Given the description of an element on the screen output the (x, y) to click on. 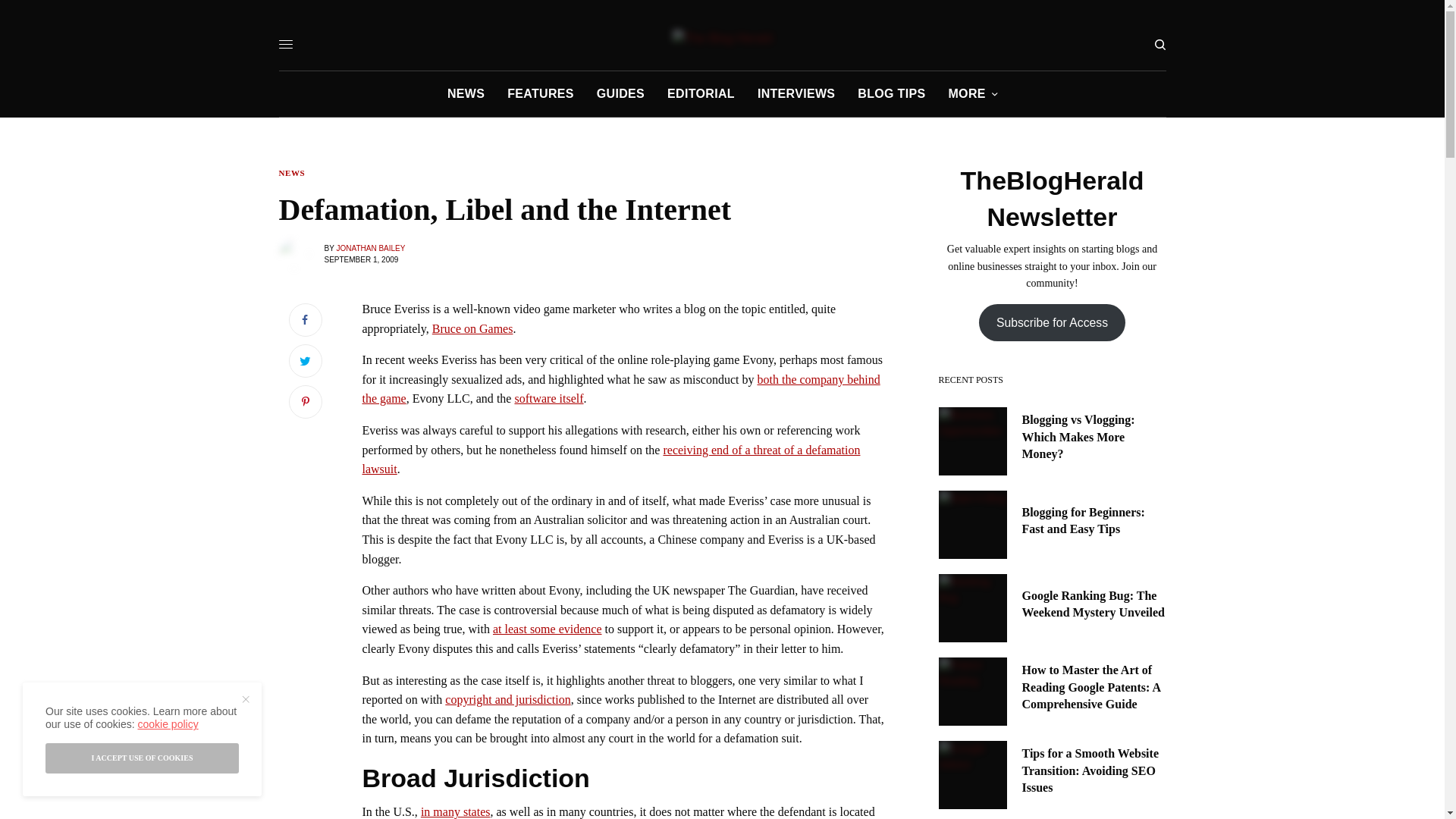
Posts by Jonathan Bailey (370, 248)
FEATURES (539, 94)
INTERVIEWS (795, 94)
Tips for a Smooth Website Transition: Avoiding SEO Issues (1094, 770)
software itself (548, 398)
Google Ranking Bug: The Weekend Mystery Unveiled (1094, 604)
Blogging vs Vlogging: Which Makes More Money? (1094, 436)
in many states (455, 811)
Blogging for Beginners: Fast and Easy Tips (1094, 521)
GUIDES (620, 94)
The Blog Herald (722, 38)
JONATHAN BAILEY (370, 248)
EDITORIAL (700, 94)
both the company behind the game (621, 389)
